Given the description of an element on the screen output the (x, y) to click on. 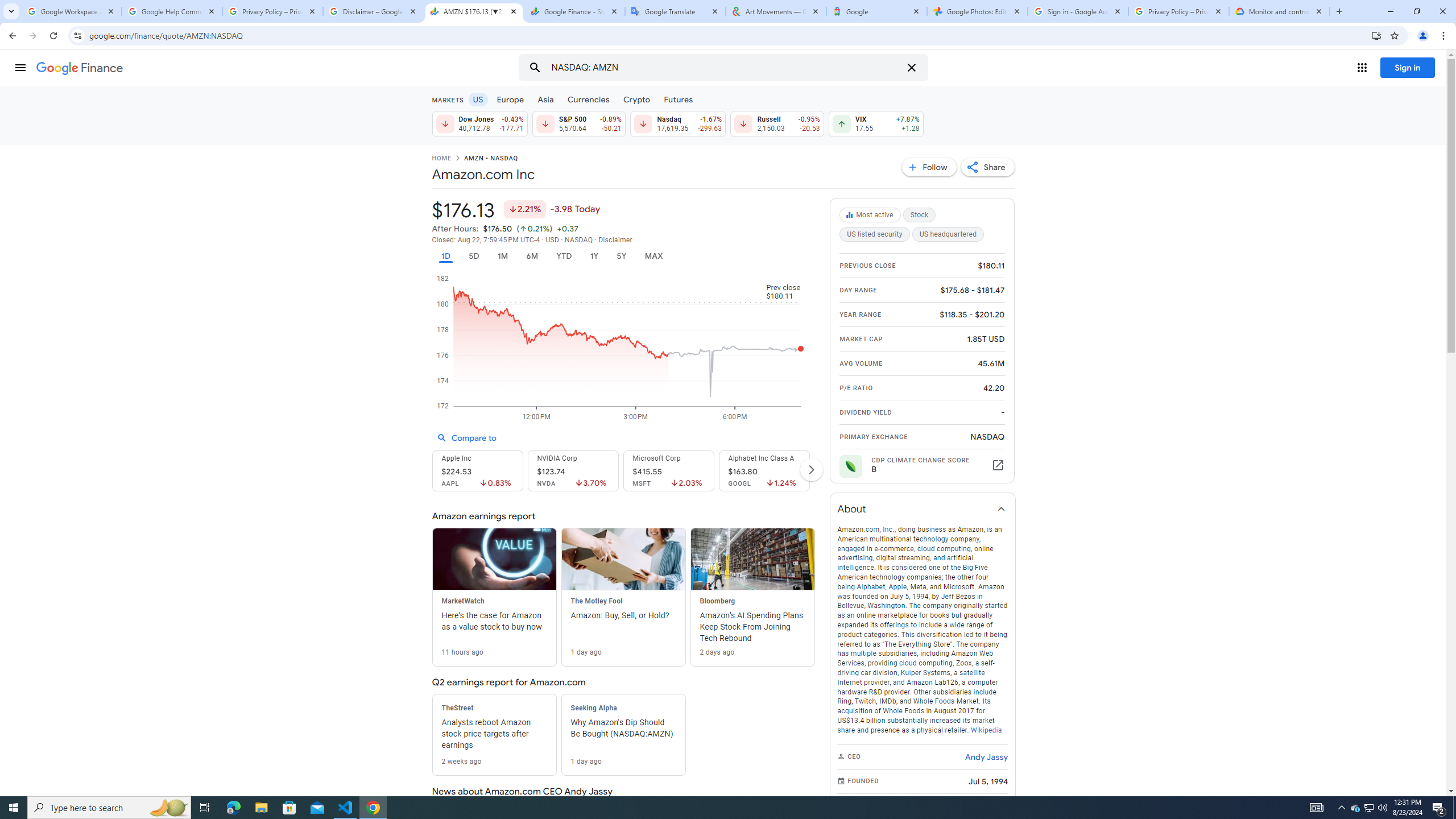
HOME (440, 158)
1D (445, 255)
Wikipedia (985, 729)
Dow Jones 40,712.78 Down by 0.43% -177.71 (478, 123)
